Given the description of an element on the screen output the (x, y) to click on. 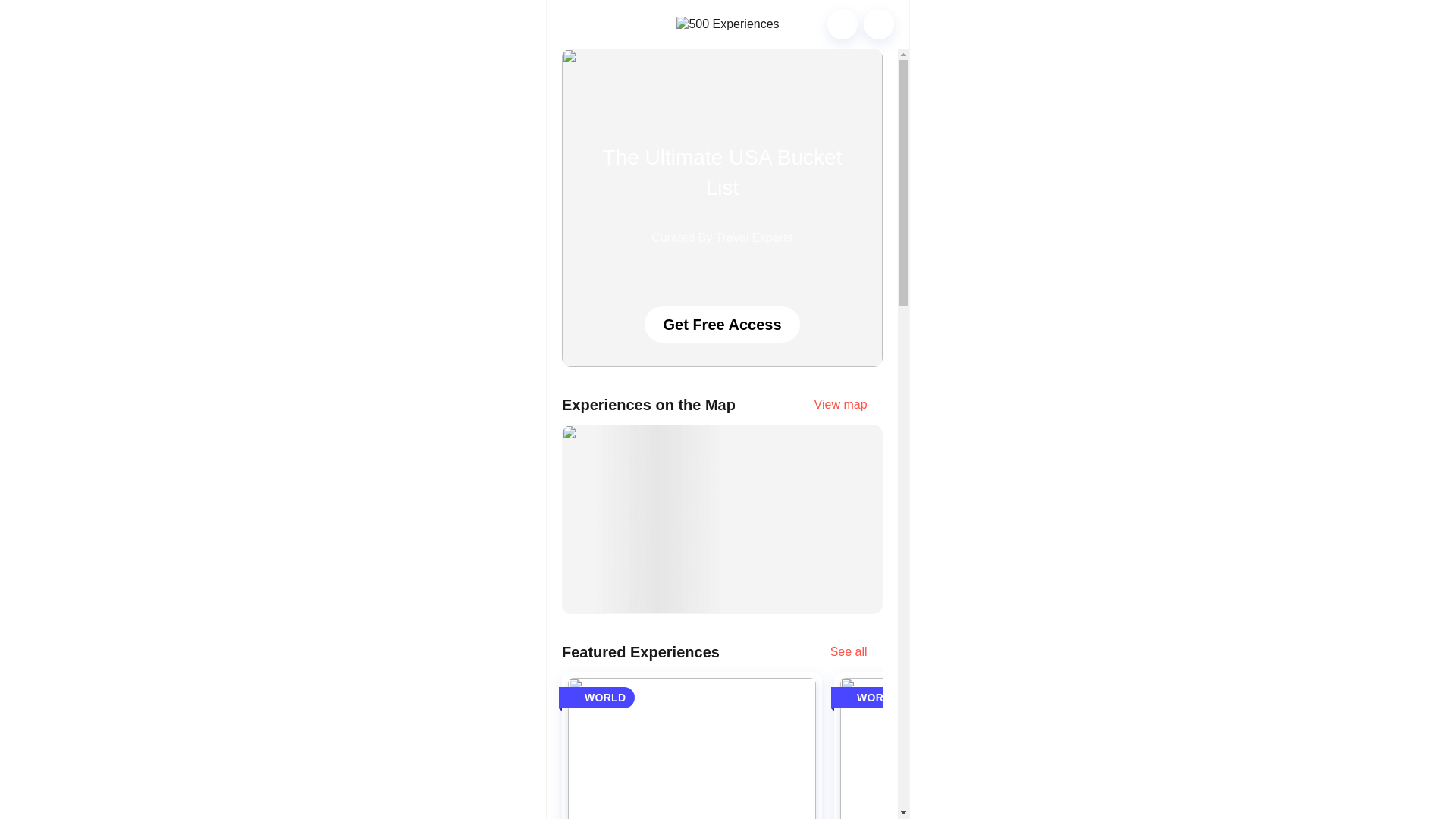
See all   (855, 657)
View map   (847, 411)
Get Free Access (722, 324)
